Given the description of an element on the screen output the (x, y) to click on. 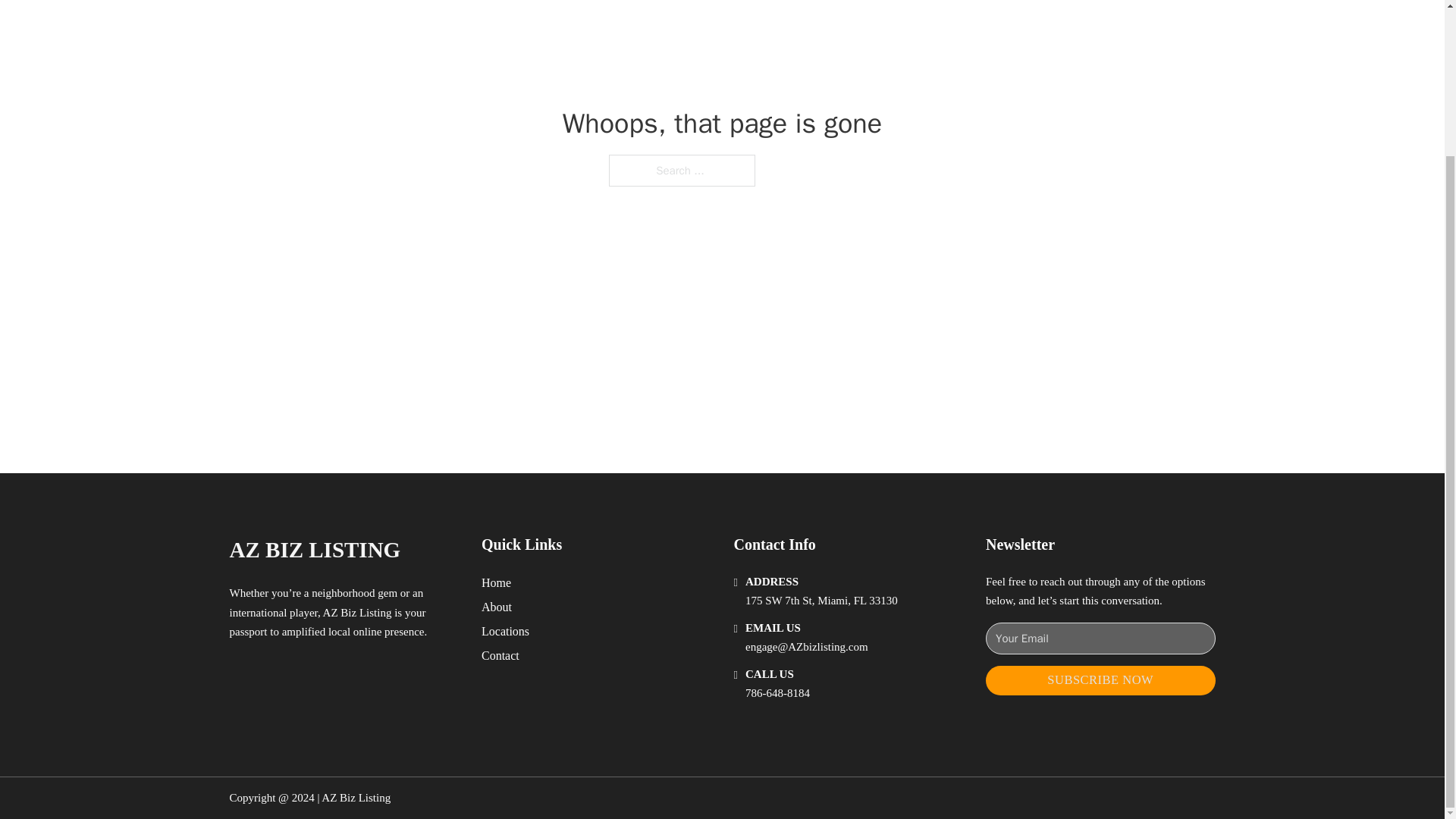
AZ BIZ LISTING (314, 549)
Contact (500, 655)
SUBSCRIBE NOW (1100, 680)
About (496, 607)
Locations (505, 630)
786-648-8184 (777, 693)
Home (496, 582)
